Given the description of an element on the screen output the (x, y) to click on. 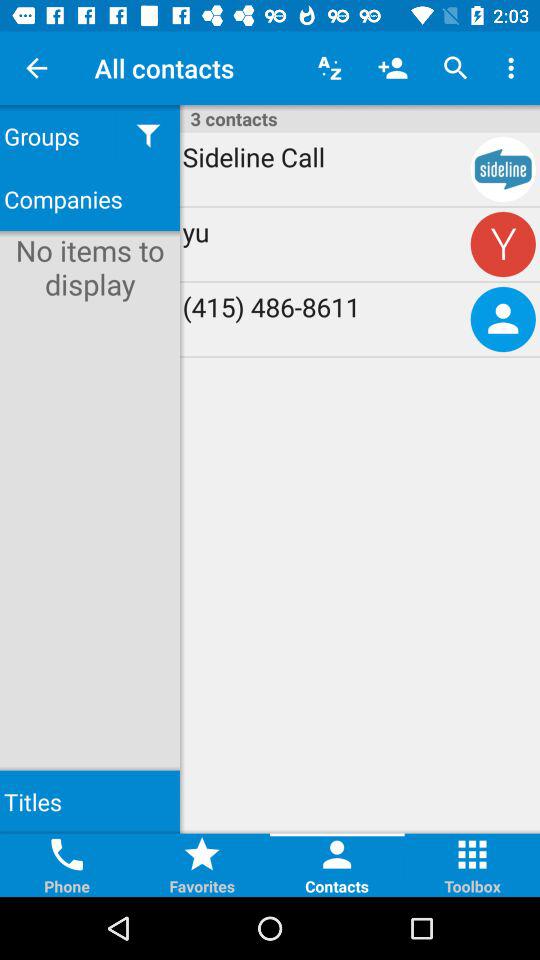
launch the icon next to groups item (148, 136)
